Given the description of an element on the screen output the (x, y) to click on. 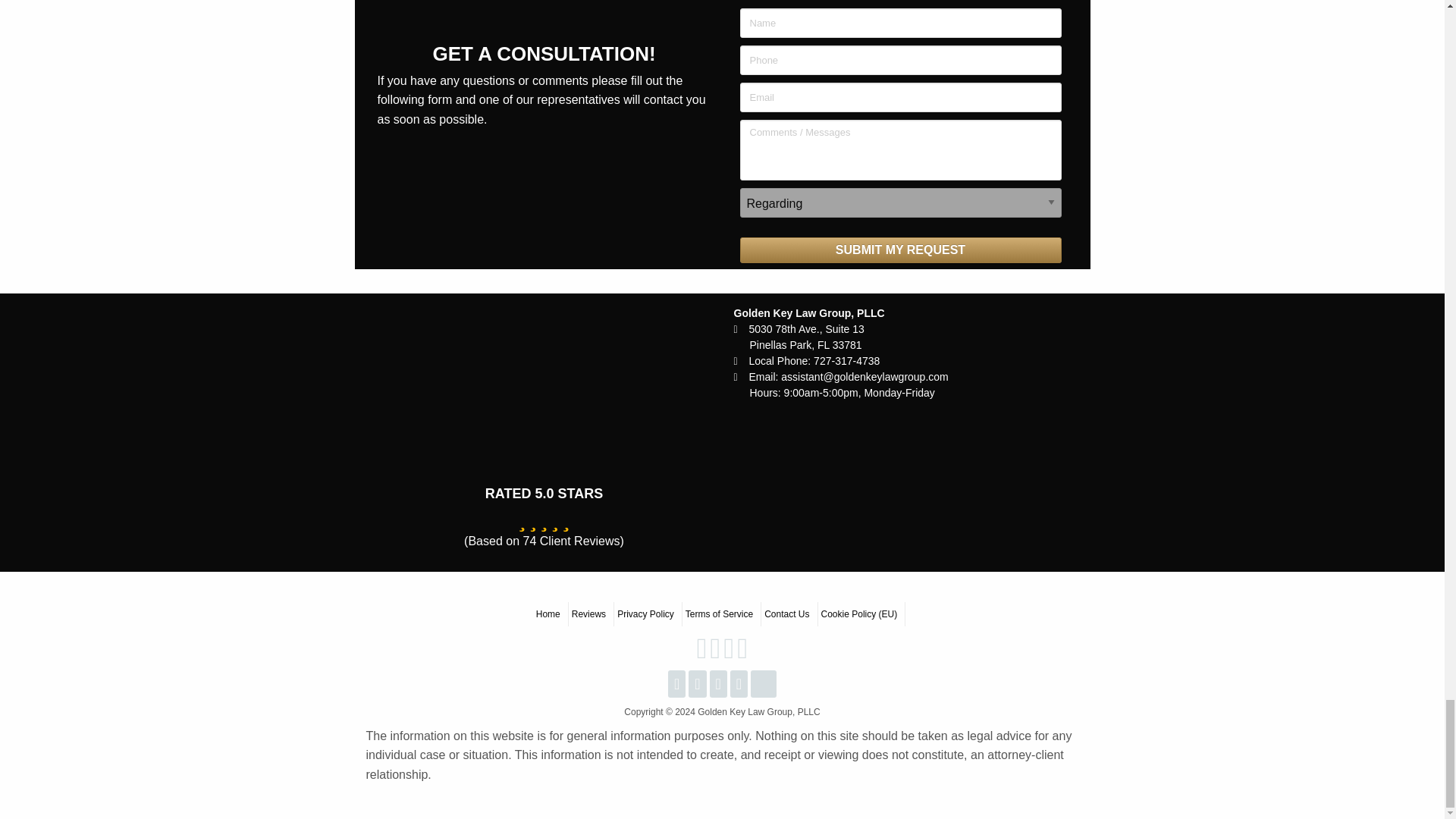
SUBMIT MY REQUEST (900, 249)
